Given the description of an element on the screen output the (x, y) to click on. 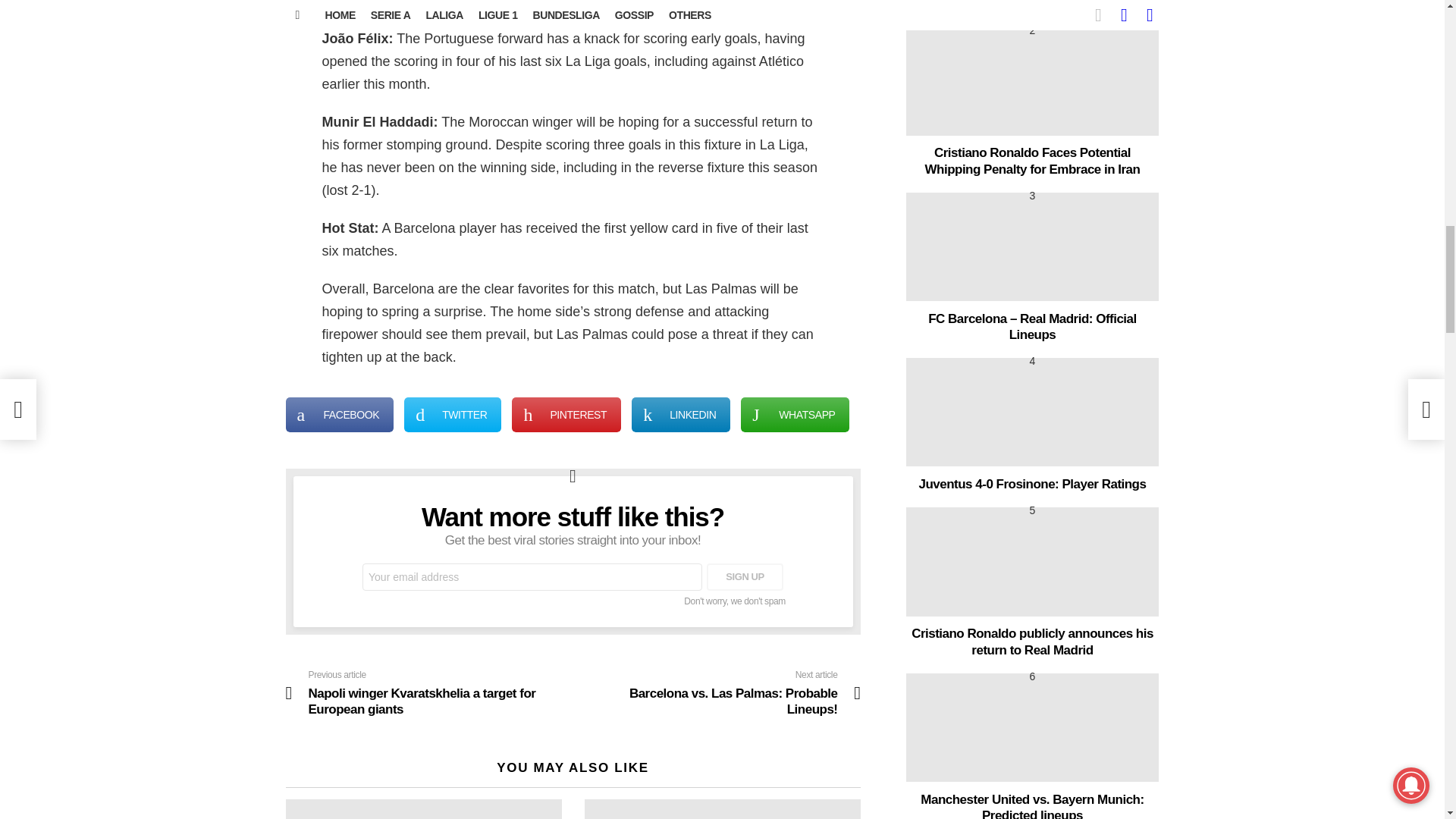
Sign up (744, 576)
